Given the description of an element on the screen output the (x, y) to click on. 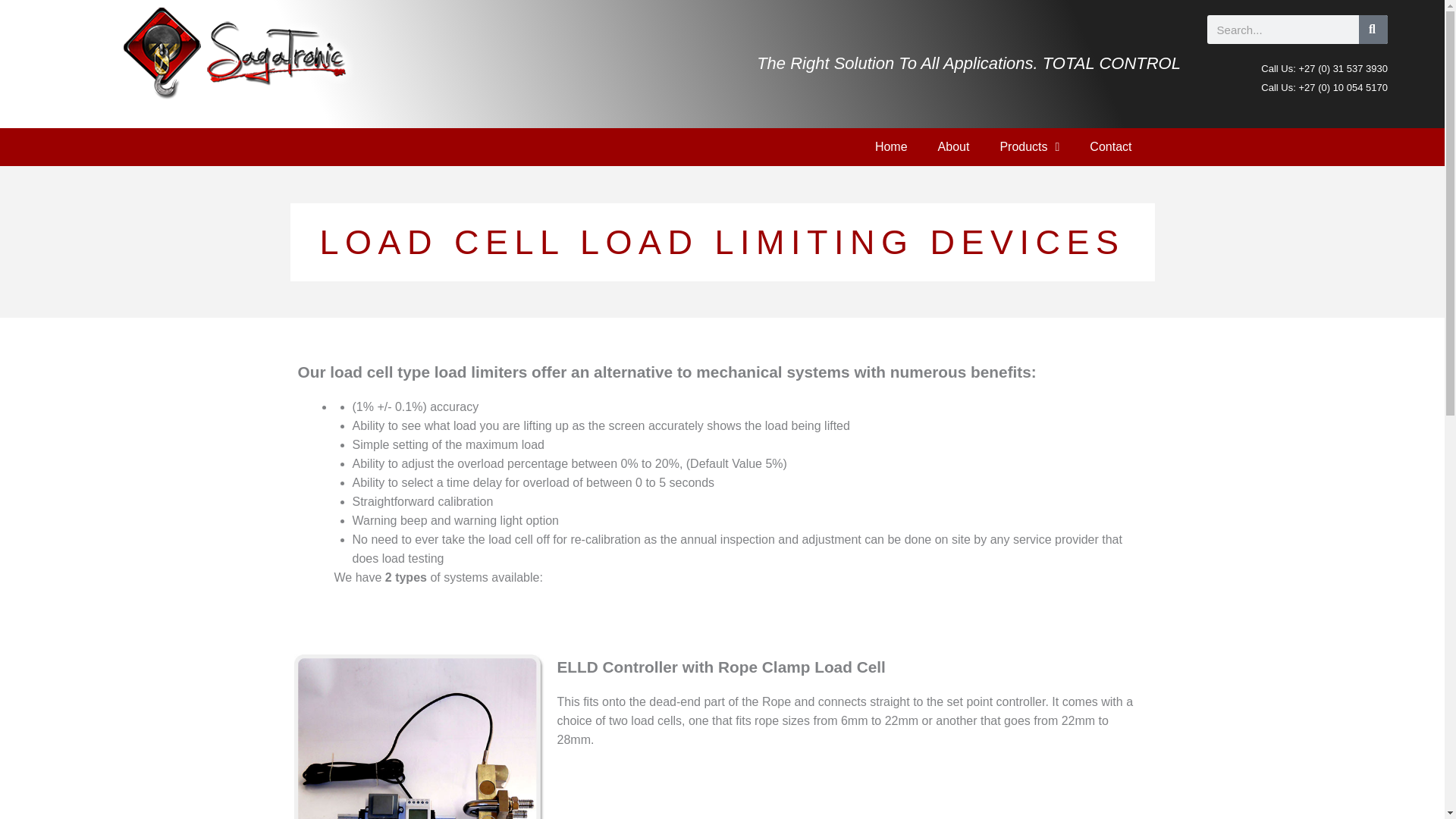
Home (891, 146)
About (954, 146)
Products (1029, 146)
Search (1372, 29)
